Given the description of an element on the screen output the (x, y) to click on. 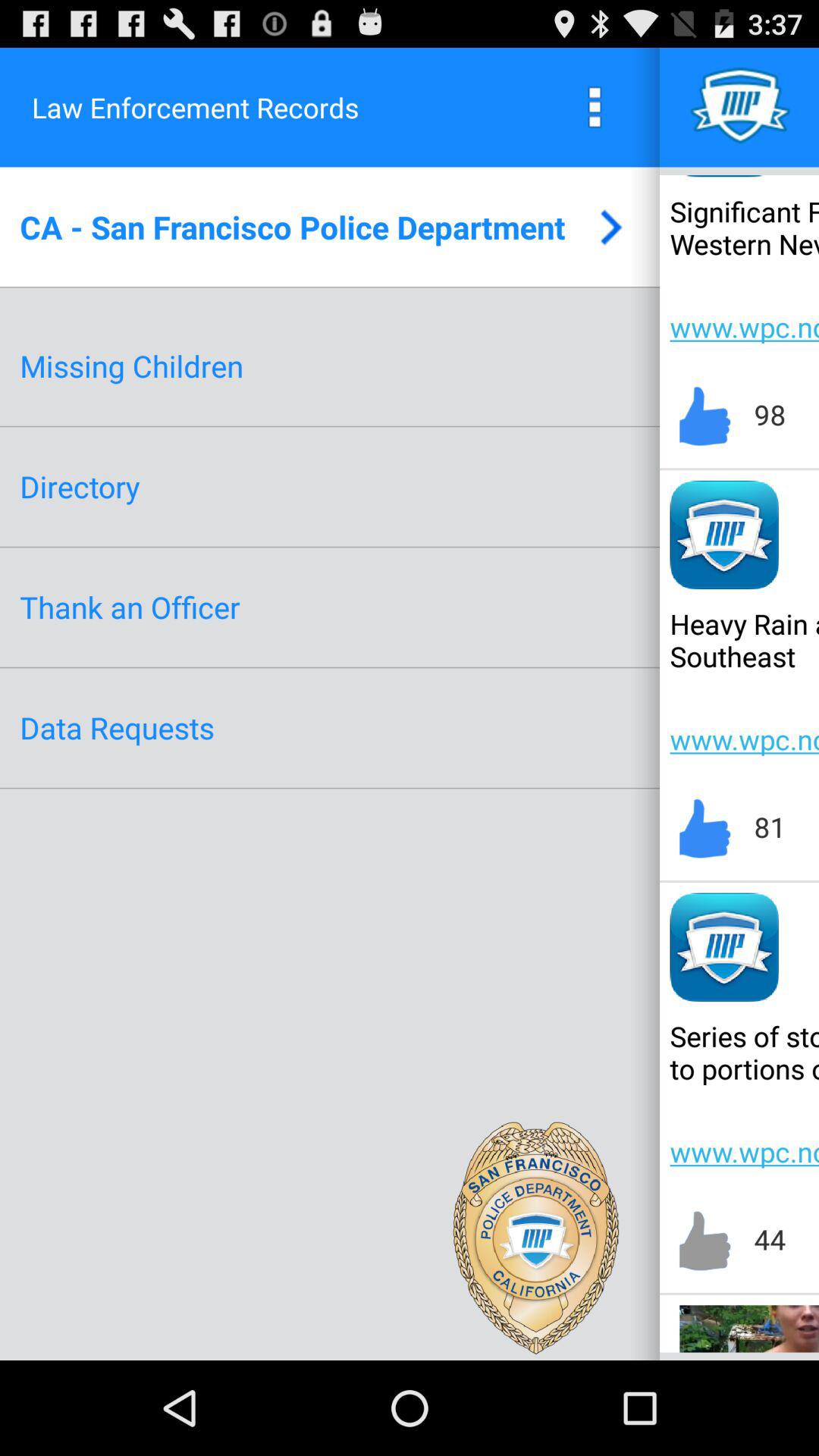
swipe to data requests (116, 727)
